Given the description of an element on the screen output the (x, y) to click on. 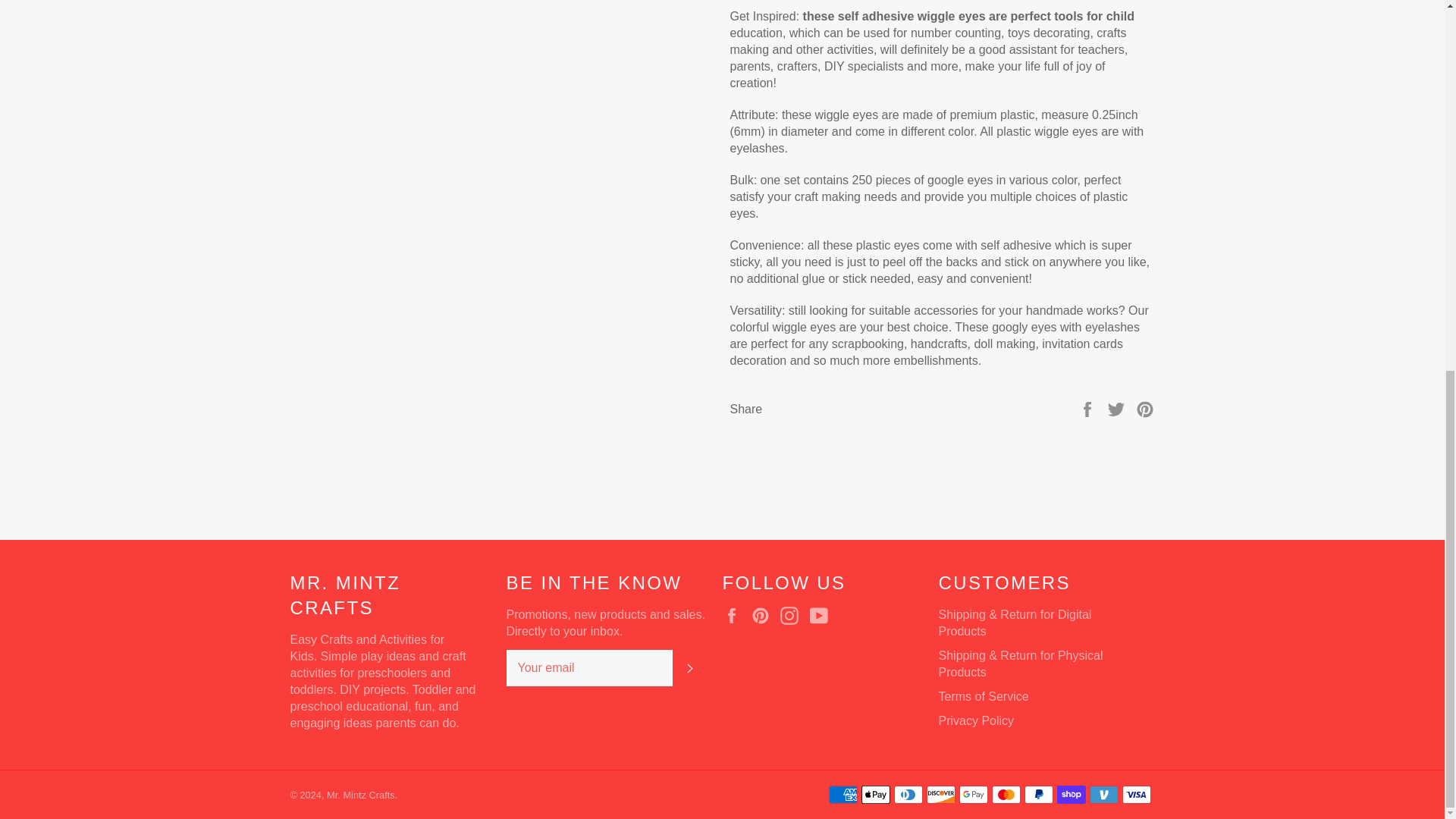
Mr. Mintz Crafts on Instagram (793, 615)
Tweet on Twitter (1117, 408)
Pin on Pinterest (1144, 408)
Mr. Mintz Crafts on Facebook (735, 615)
Mr. Mintz Crafts on YouTube (822, 615)
Mr. Mintz Crafts on Pinterest (764, 615)
Share on Facebook (1088, 408)
